Given the description of an element on the screen output the (x, y) to click on. 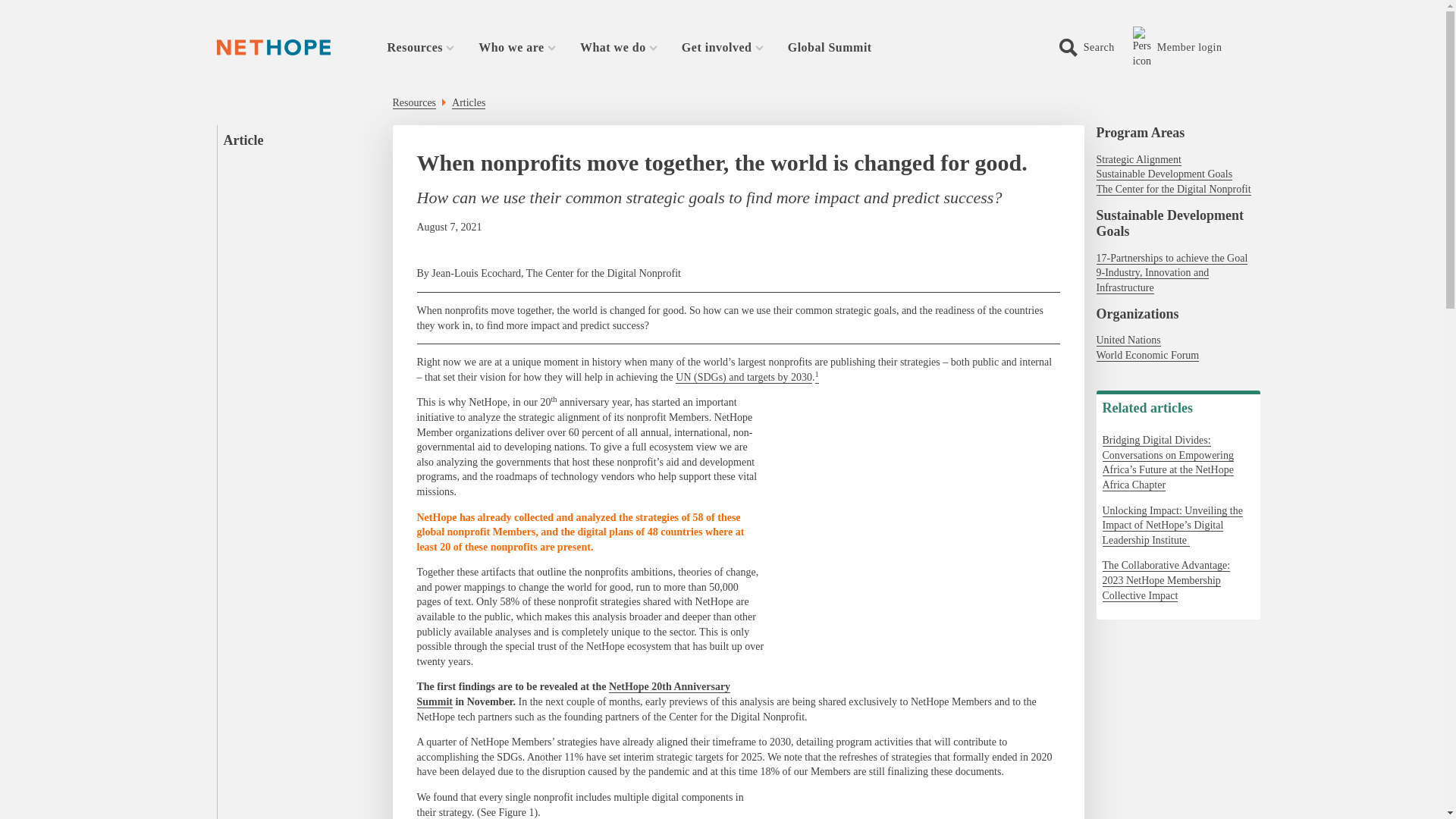
What we do (618, 47)
Articles (467, 102)
Who we are (517, 47)
1 (816, 377)
Global Summit (829, 47)
Get involved (721, 47)
Resources (420, 47)
Resources (414, 102)
Member login (1190, 47)
